Given the description of an element on the screen output the (x, y) to click on. 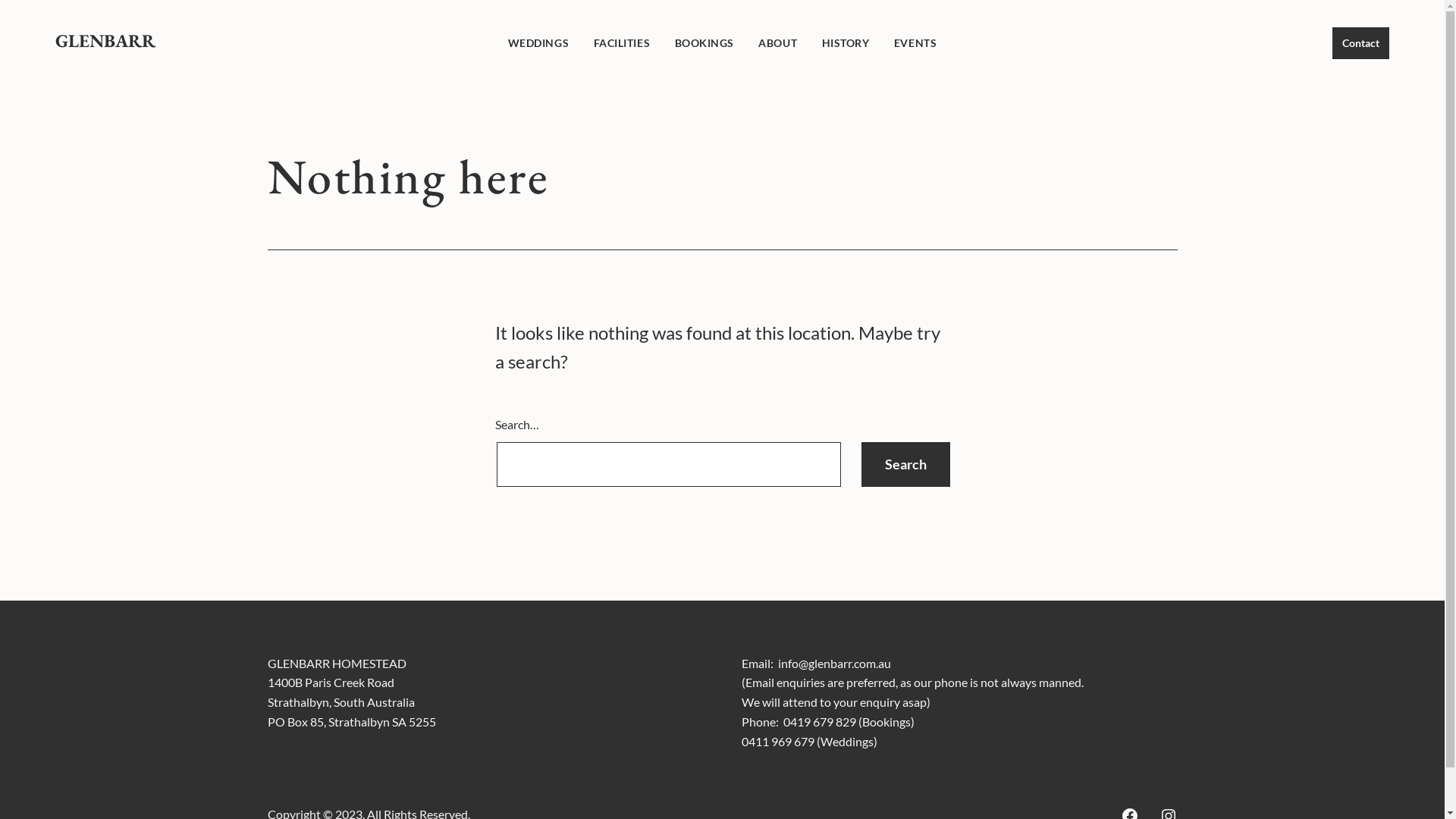
BOOKINGS Element type: text (703, 43)
Contact Element type: text (1360, 43)
ABOUT Element type: text (777, 43)
HISTORY Element type: text (844, 43)
FACILITIES Element type: text (621, 43)
GLENBARR Element type: text (104, 40)
Search Element type: text (905, 464)
WEDDINGS Element type: text (537, 43)
info@glenbarr.com.au Element type: text (834, 662)
EVENTS Element type: text (915, 43)
